Given the description of an element on the screen output the (x, y) to click on. 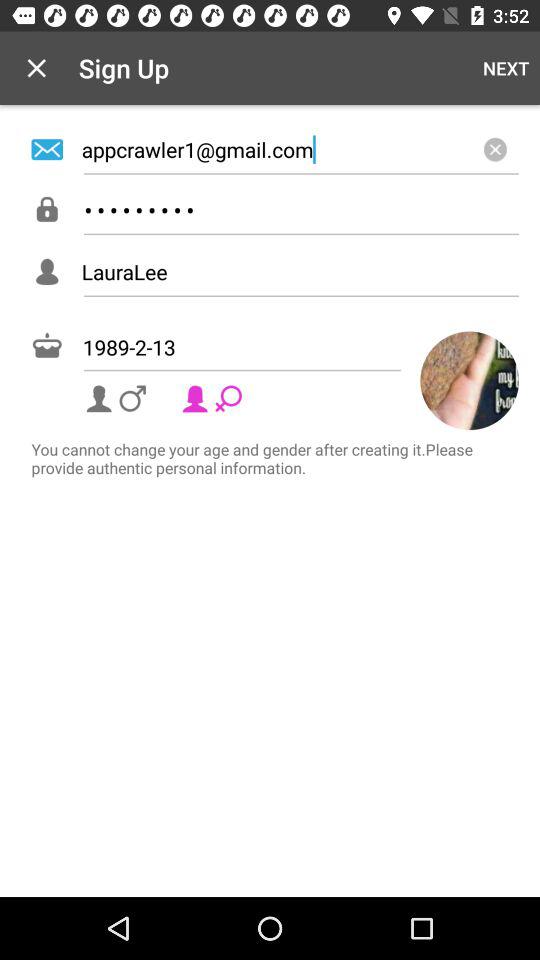
select the icon to the right of the sign up icon (506, 67)
